Given the description of an element on the screen output the (x, y) to click on. 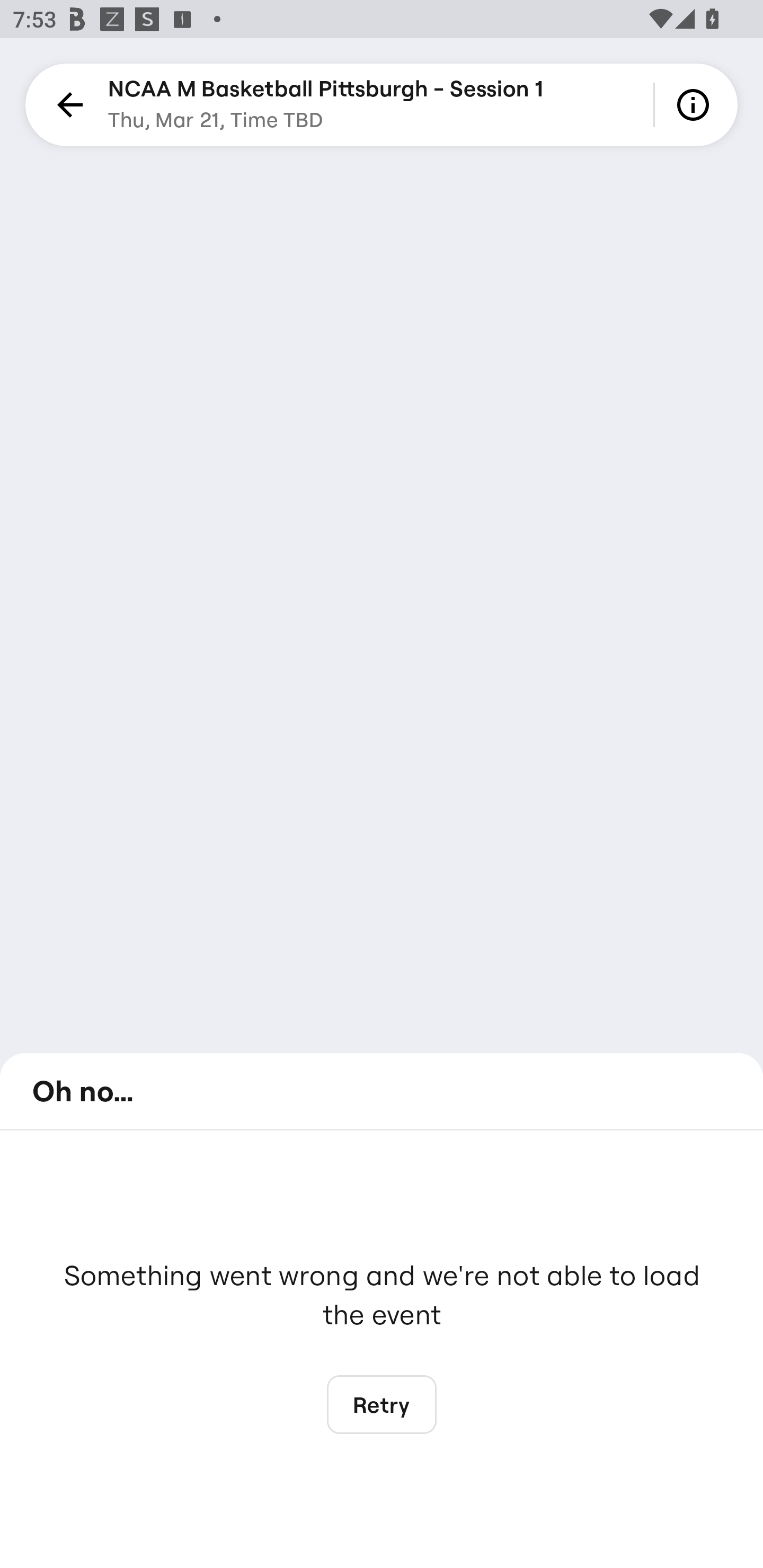
Back (66, 104)
Info (695, 104)
Retry (381, 1404)
